Given the description of an element on the screen output the (x, y) to click on. 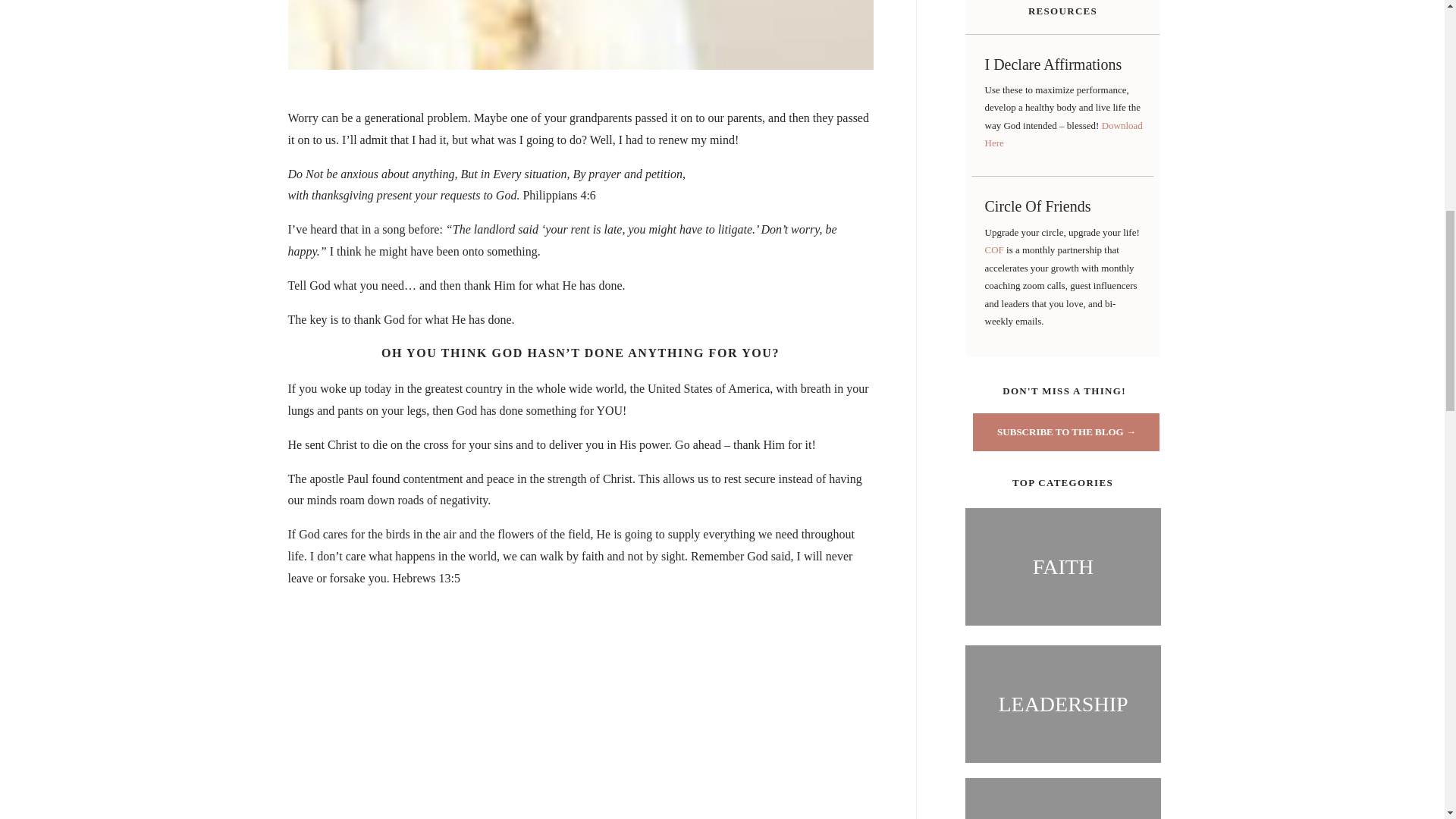
COF (995, 249)
Download Here (1062, 133)
LEADERSHIP (1062, 703)
FAITH (1062, 566)
I Declare Affirmations (1062, 66)
Circle Of Friends (1062, 208)
